Given the description of an element on the screen output the (x, y) to click on. 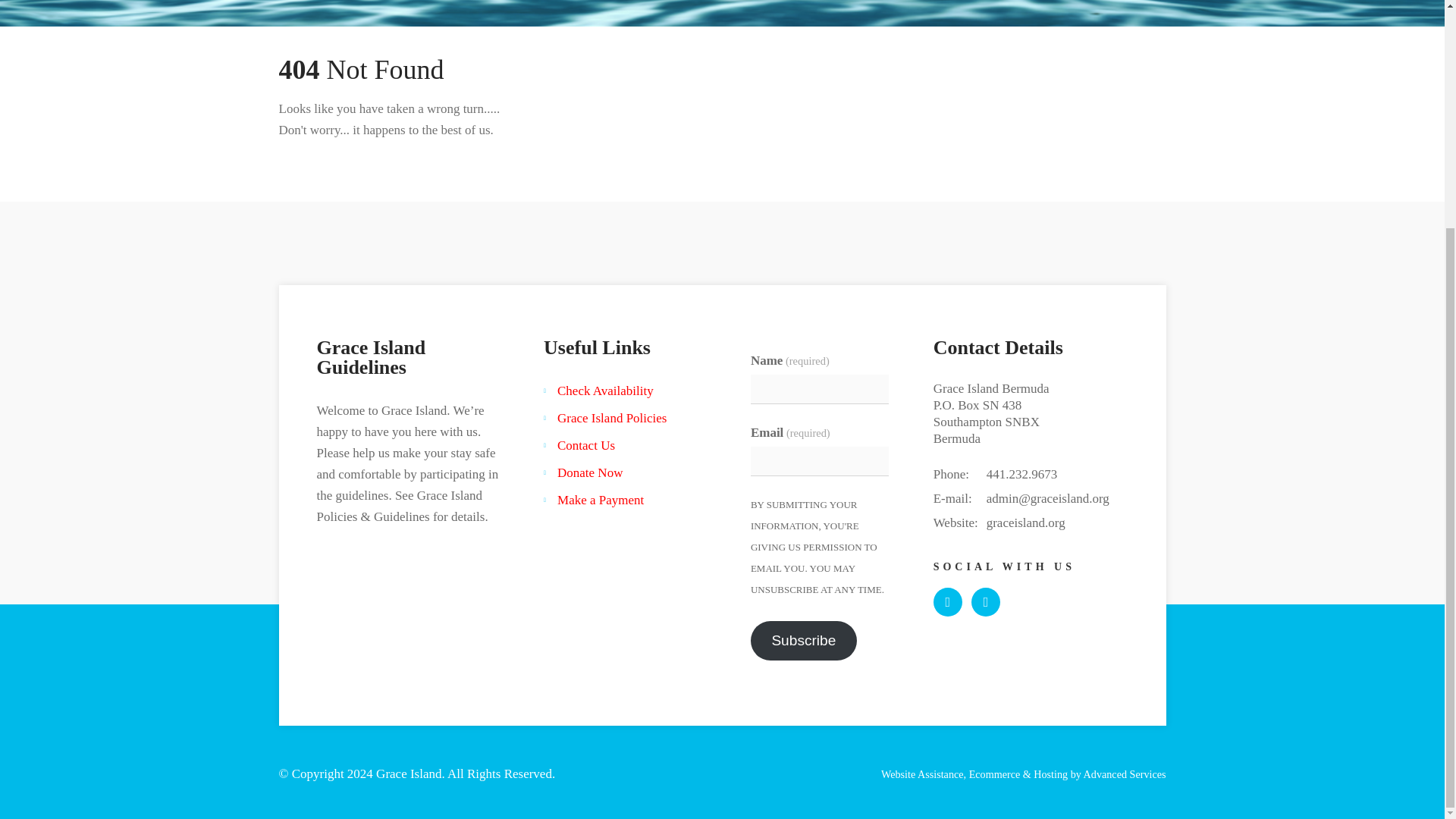
Grace Island Policies (611, 417)
Check Availability (605, 390)
